Given the description of an element on the screen output the (x, y) to click on. 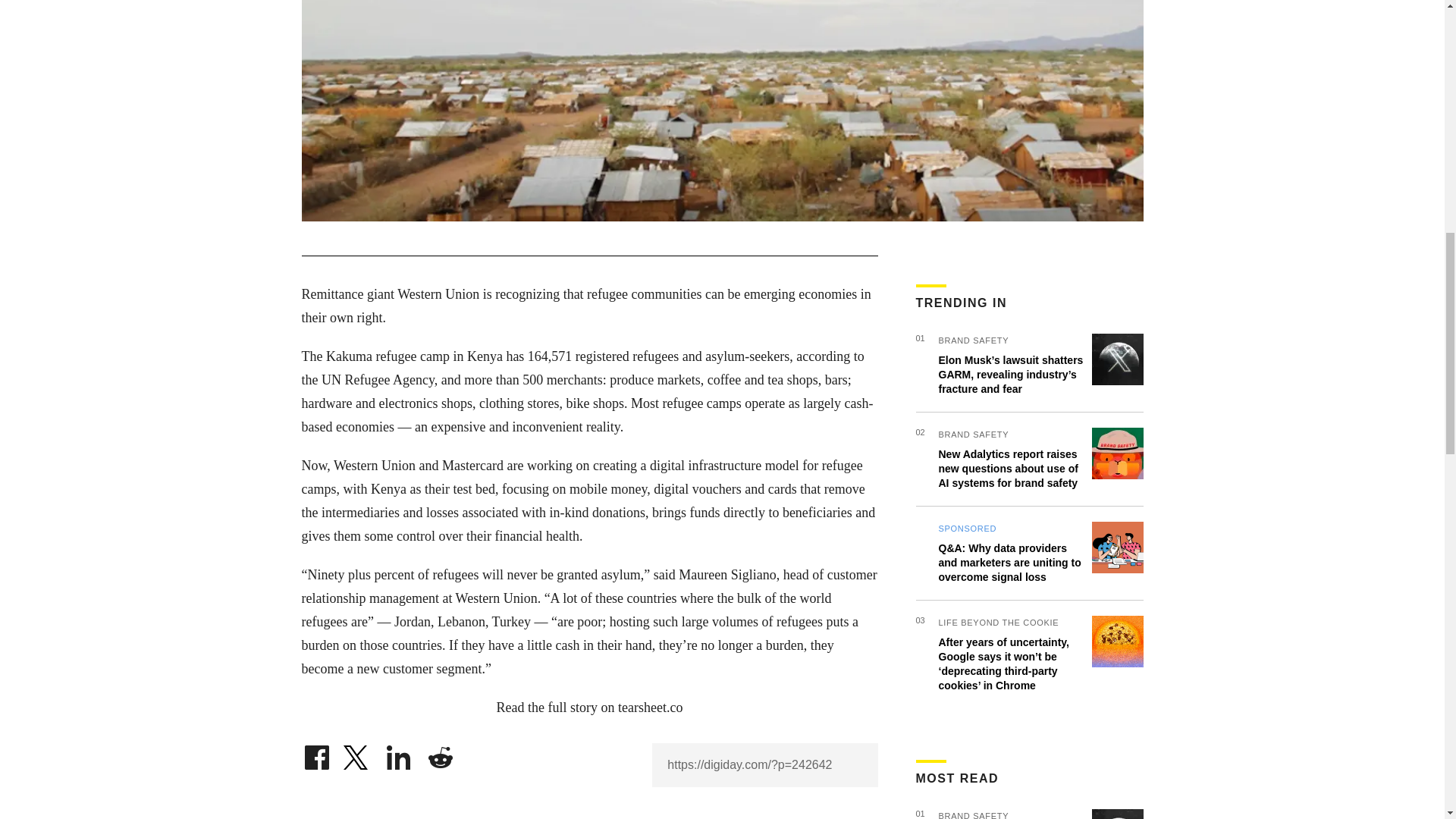
Share on Facebook (316, 753)
Share on Reddit (440, 753)
Share on Twitter (357, 753)
Share on LinkedIn (398, 753)
